Given the description of an element on the screen output the (x, y) to click on. 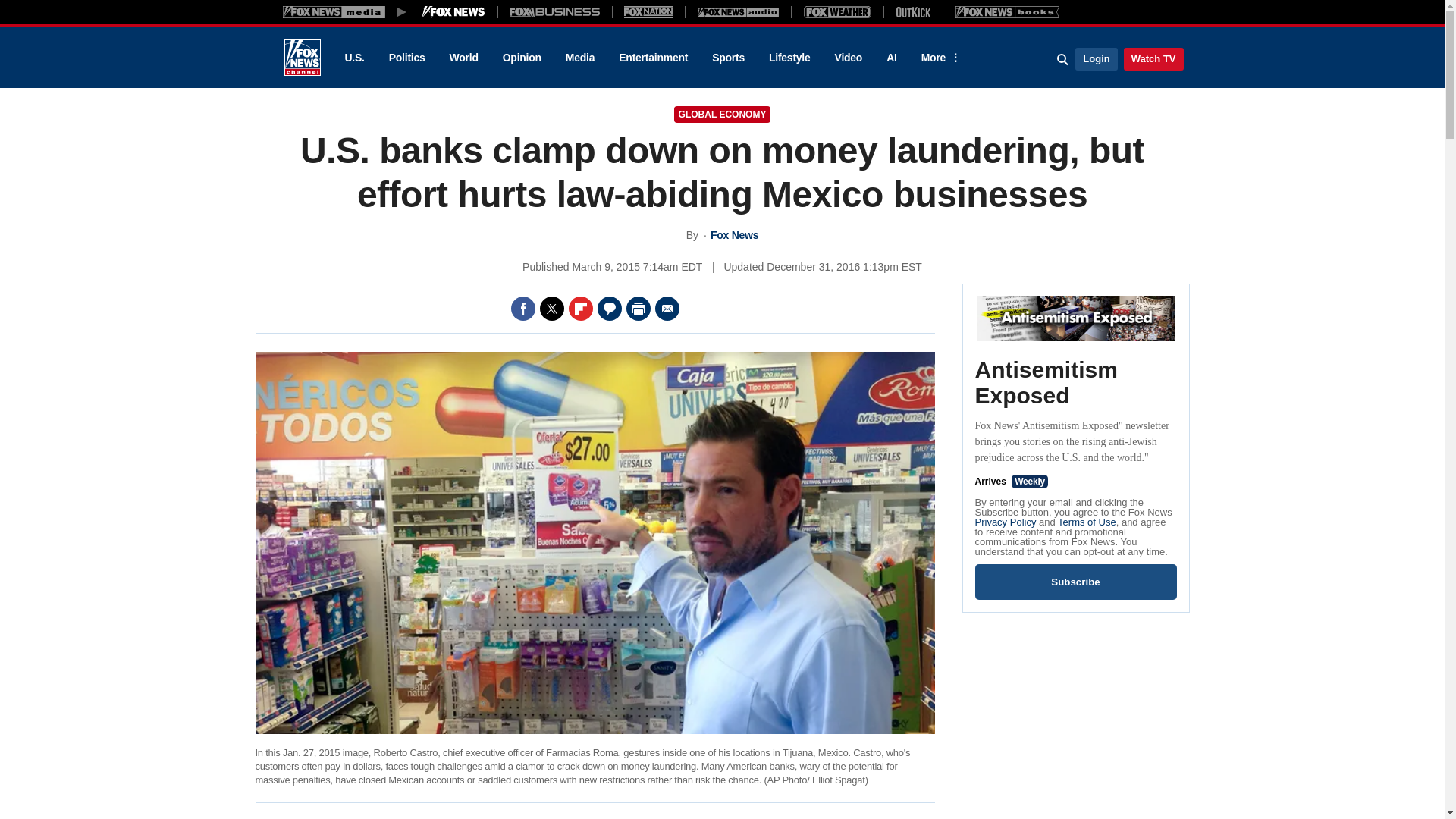
Fox News Audio (737, 11)
Fox Weather (836, 11)
Books (1007, 11)
Opinion (521, 57)
U.S. (353, 57)
Lifestyle (789, 57)
Outkick (912, 11)
Fox Business (554, 11)
Fox Nation (648, 11)
Login (1095, 58)
Video (848, 57)
AI (891, 57)
Media (580, 57)
Politics (407, 57)
Entertainment (653, 57)
